Given the description of an element on the screen output the (x, y) to click on. 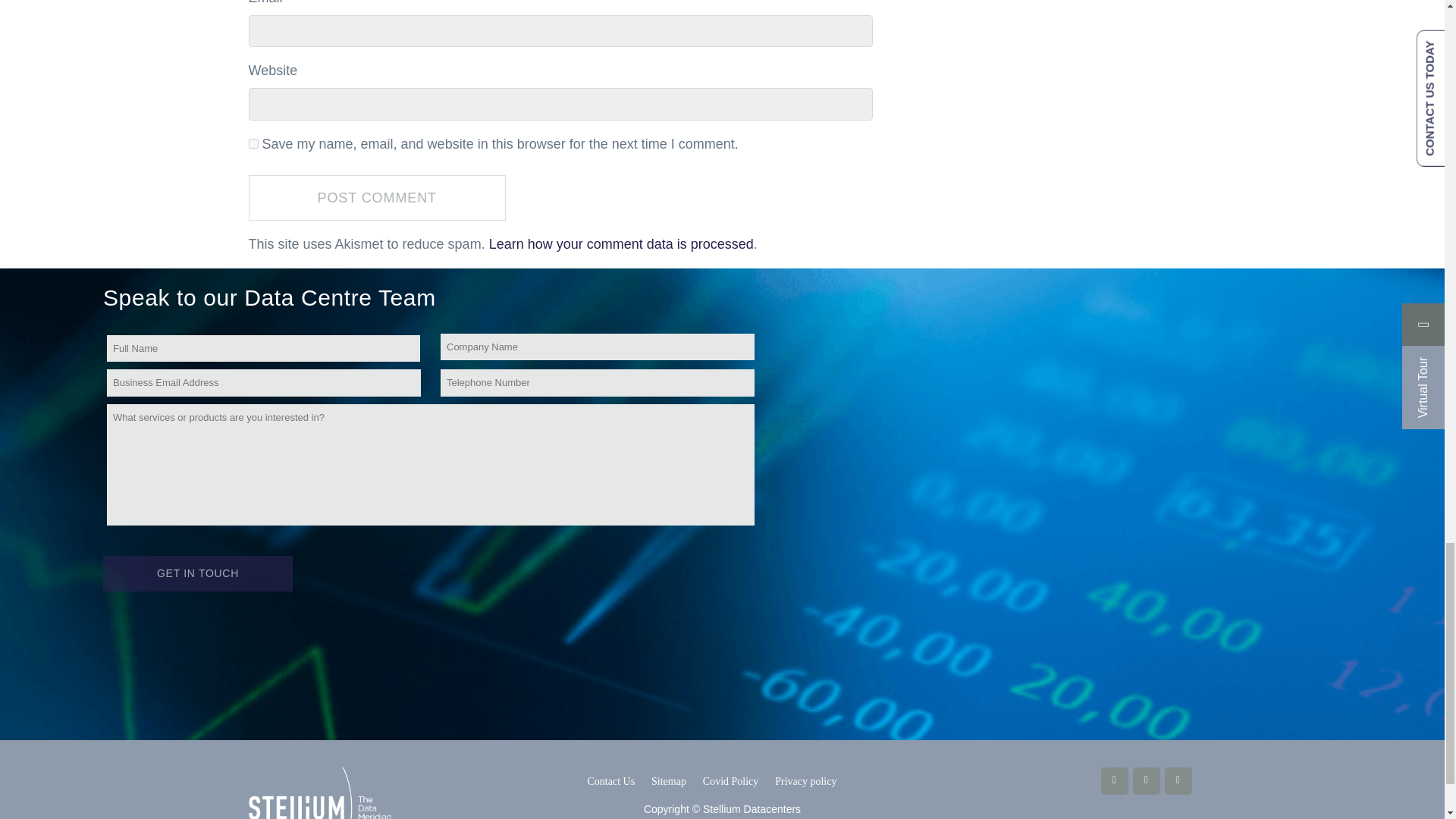
Post Comment (376, 198)
Get In Touch (197, 574)
yes (253, 143)
